Given the description of an element on the screen output the (x, y) to click on. 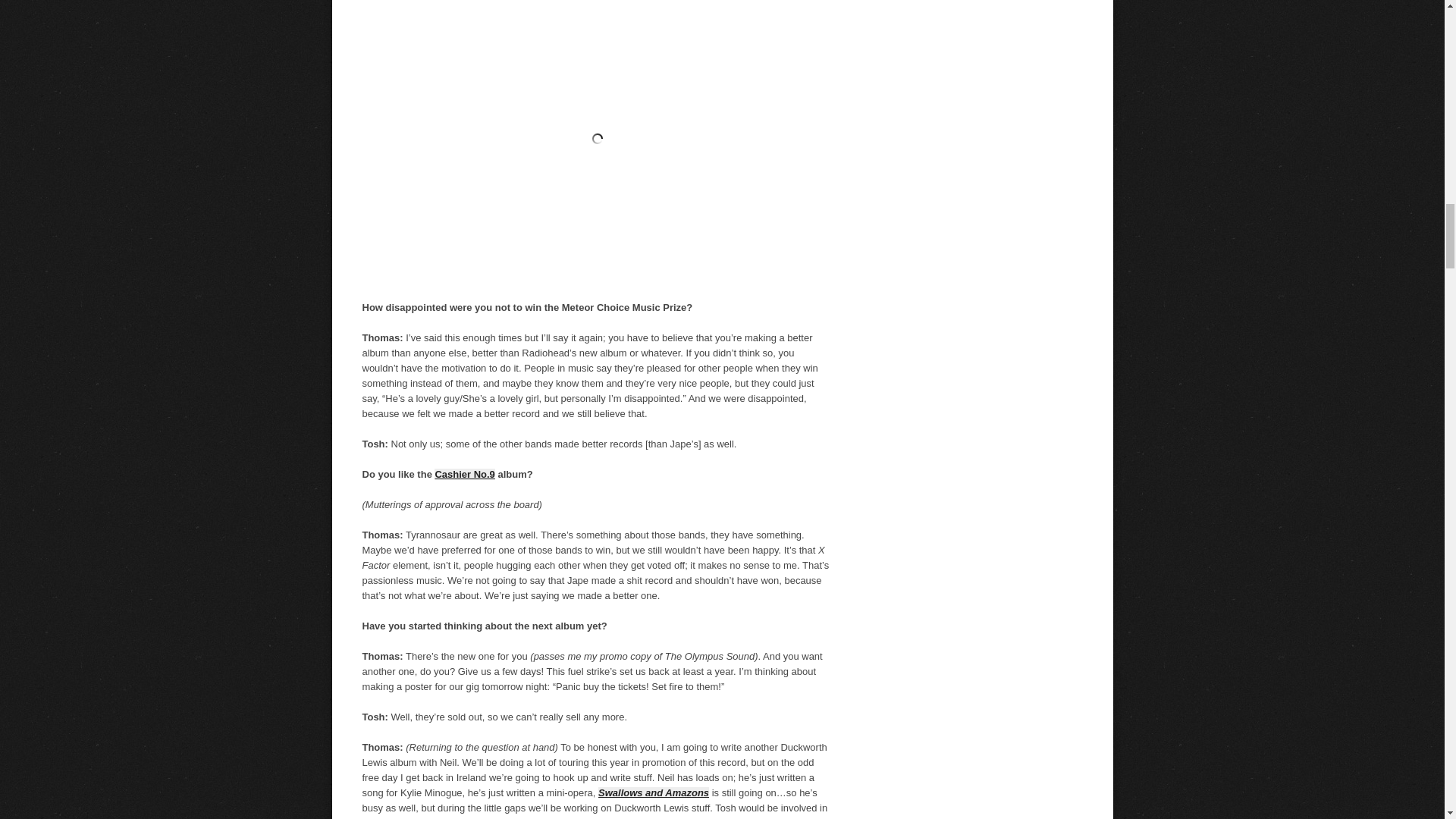
Cashier No.9 (464, 473)
Swallows and Amazons (653, 792)
